Given the description of an element on the screen output the (x, y) to click on. 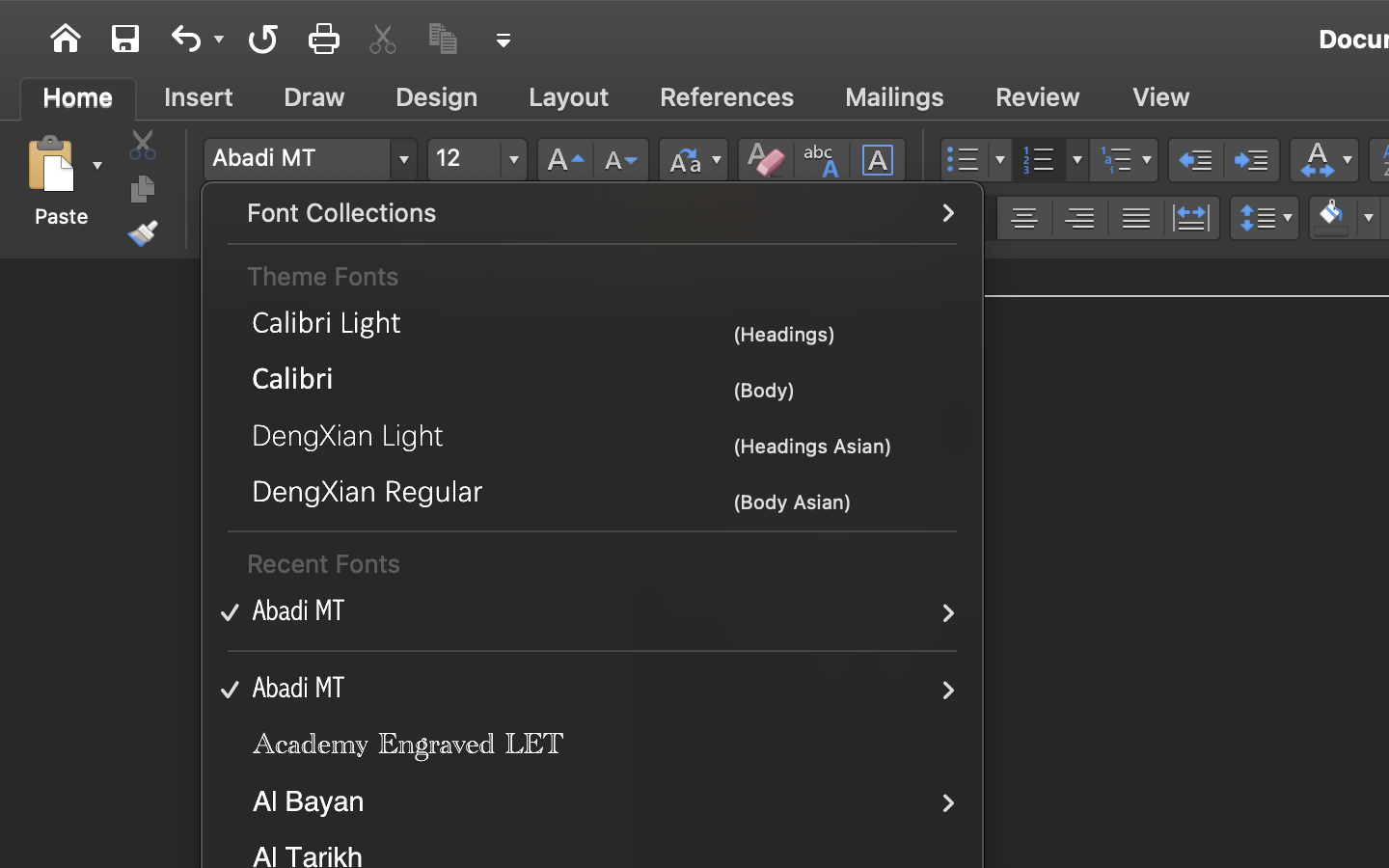
Abadi MT Element type: AXComboBox (310, 160)
1 Element type: AXRadioButton (77, 97)
0 Element type: AXRadioButton (726, 97)
12 Element type: AXComboBox (477, 160)
